Given the description of an element on the screen output the (x, y) to click on. 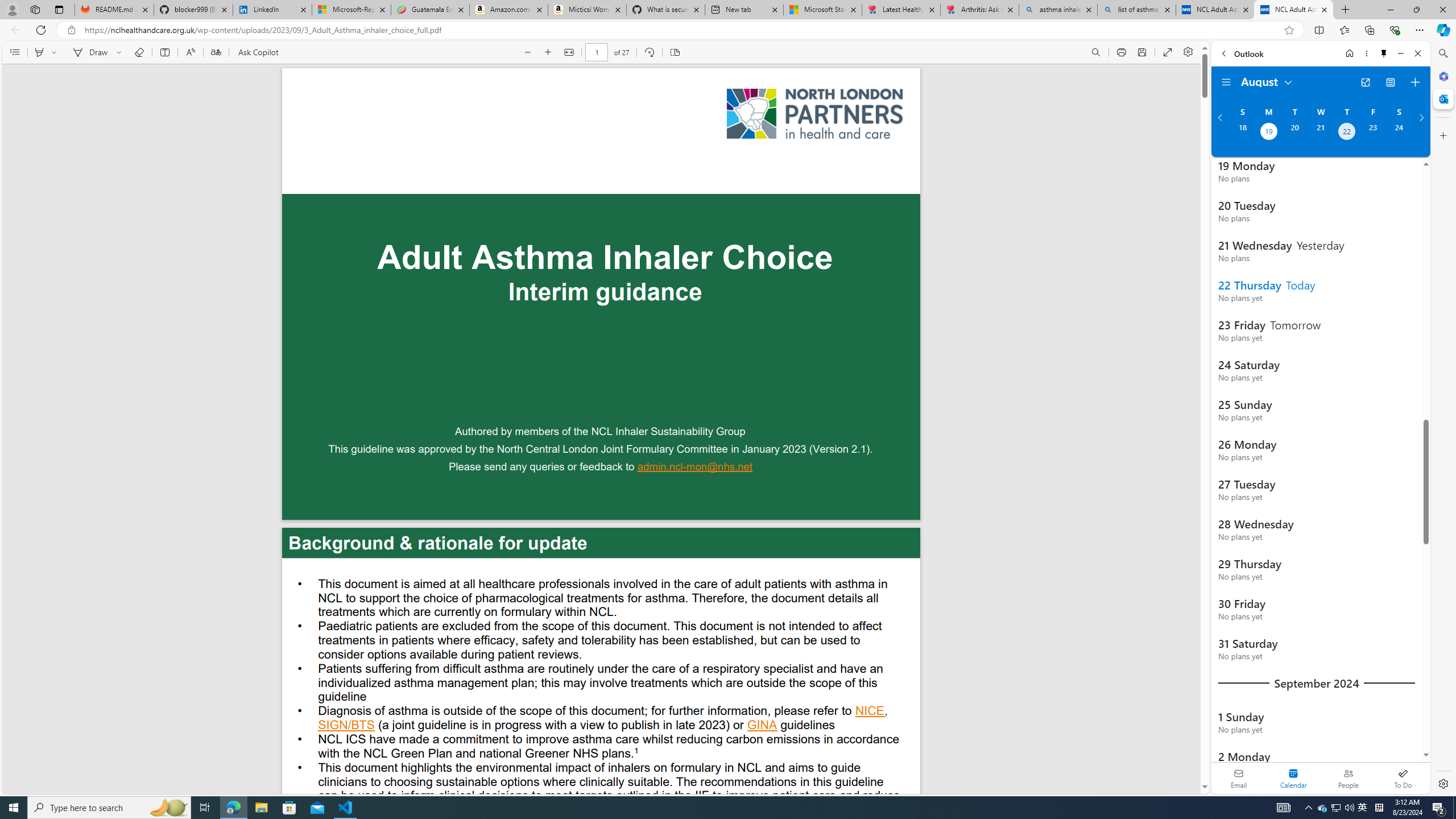
Email (1238, 777)
Arthritis: Ask Health Professionals (979, 9)
Save (Ctrl+S) (1142, 52)
More options (1366, 53)
Side bar (1443, 418)
Draw (88, 52)
Page view (674, 52)
Saturday, August 24, 2024.  (1399, 132)
People (1347, 777)
Find (Ctrl + F) (1096, 52)
Create event (1414, 82)
